Given the description of an element on the screen output the (x, y) to click on. 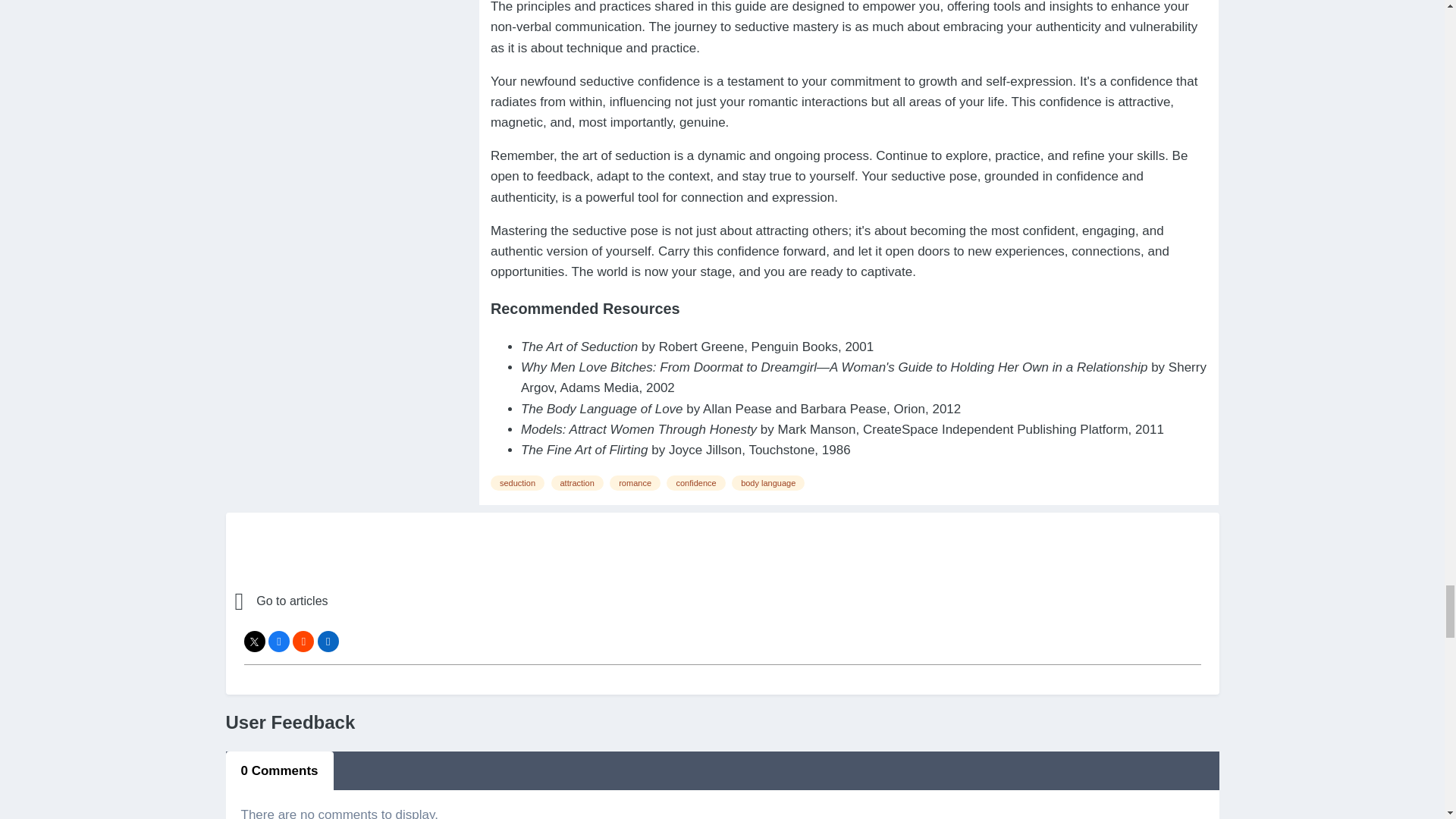
Share on Facebook (278, 640)
Find other content tagged with 'seduction' (517, 482)
Find other content tagged with 'attraction' (576, 482)
Find other content tagged with 'confidence' (695, 482)
Find other content tagged with 'body language' (768, 482)
Go to Relationships (367, 600)
Find other content tagged with 'romance' (635, 482)
Share on X (254, 640)
